Given the description of an element on the screen output the (x, y) to click on. 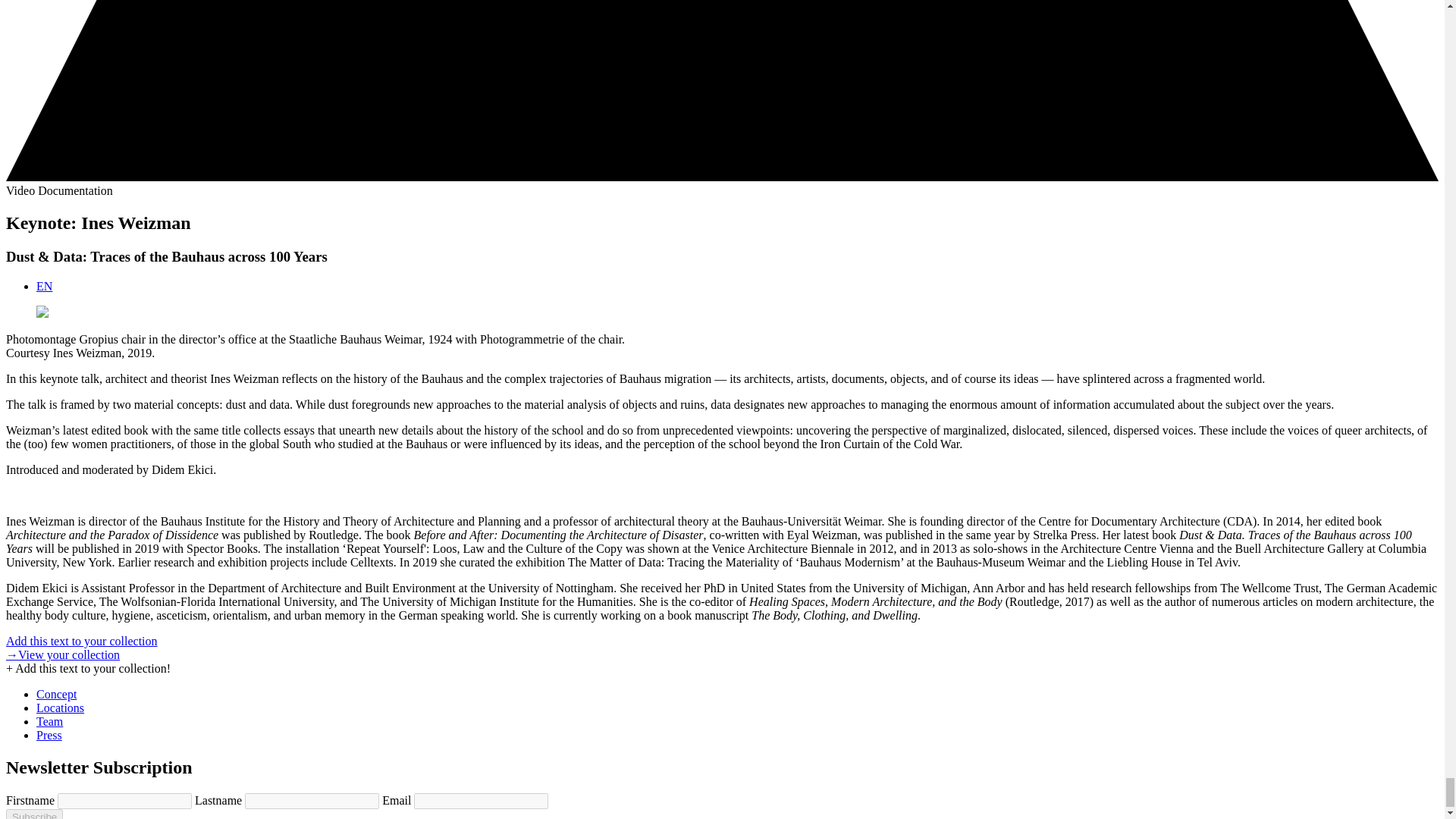
Team (49, 721)
Press (49, 735)
Locations (60, 707)
EN (44, 286)
Add this text to your collection (81, 640)
Concept (56, 694)
